Given the description of an element on the screen output the (x, y) to click on. 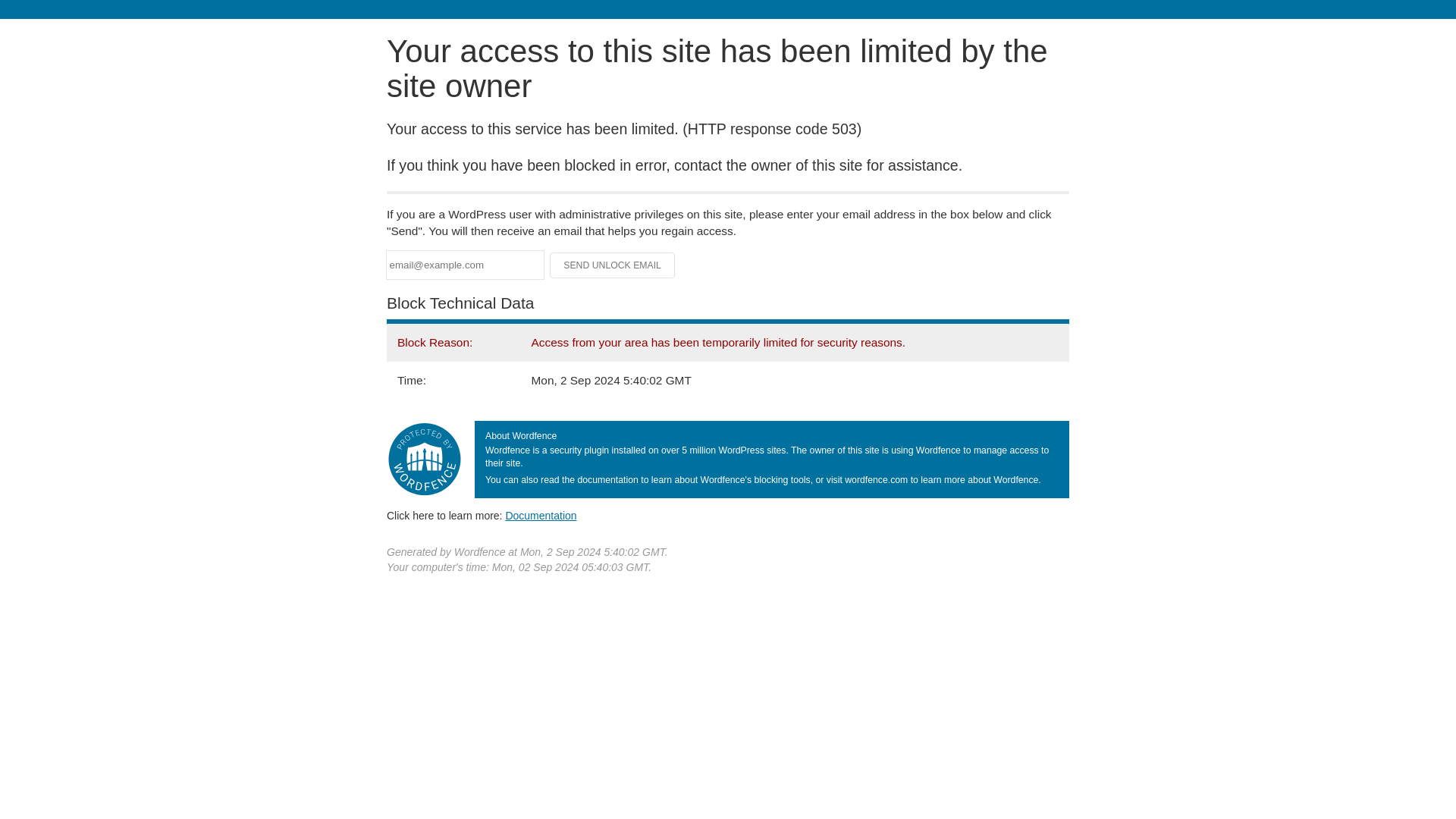
Send Unlock Email (612, 265)
Send Unlock Email (612, 265)
Documentation (540, 515)
